Given the description of an element on the screen output the (x, y) to click on. 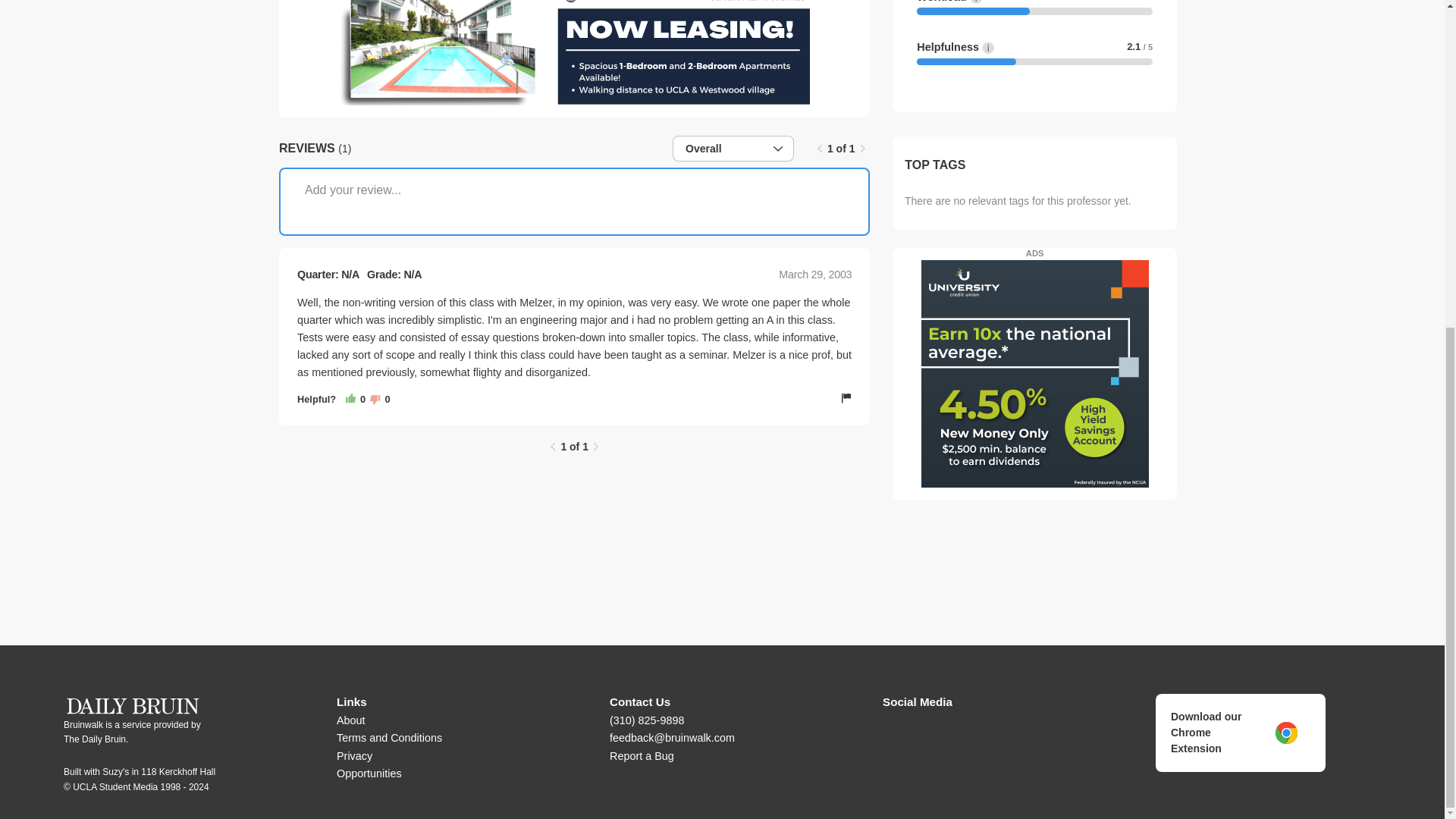
Privacy (354, 756)
0 (379, 400)
Opportunities (368, 773)
Report a Bug (642, 756)
Add your review... (574, 201)
0 (358, 400)
Terms and Conditions (389, 737)
Strath Veteran BW July 24 620x200 (574, 52)
About (350, 720)
